Given the description of an element on the screen output the (x, y) to click on. 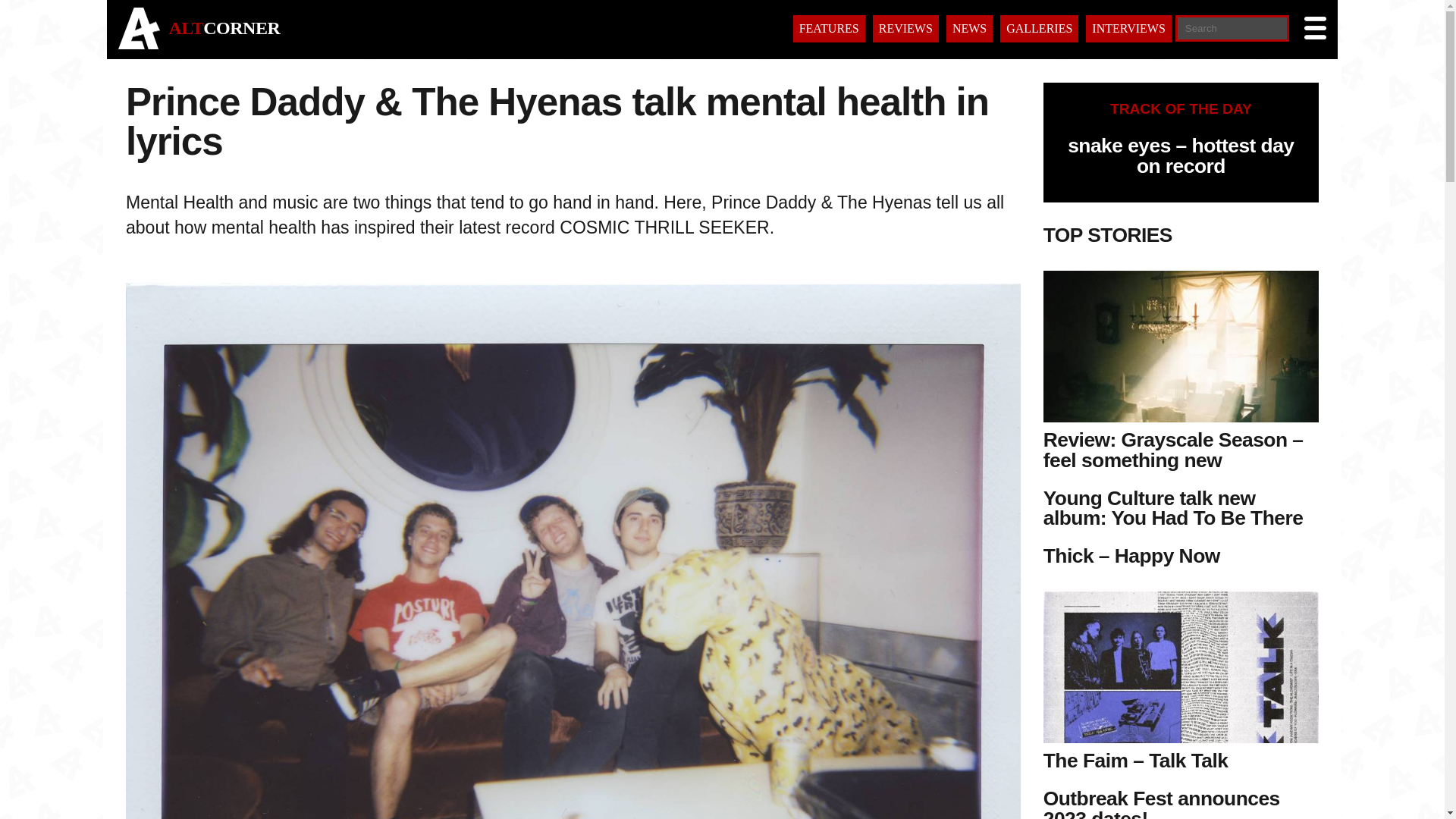
FEATURES (829, 28)
Search (56, 13)
ALTCORNER.com (138, 44)
REVIEWS (906, 28)
TRACK OF THE DAY (1180, 108)
ALTCORNER.com (223, 27)
ALTCORNER (223, 27)
Search (94, 809)
INTERVIEWS (1128, 28)
NEWS (969, 28)
